Given the description of an element on the screen output the (x, y) to click on. 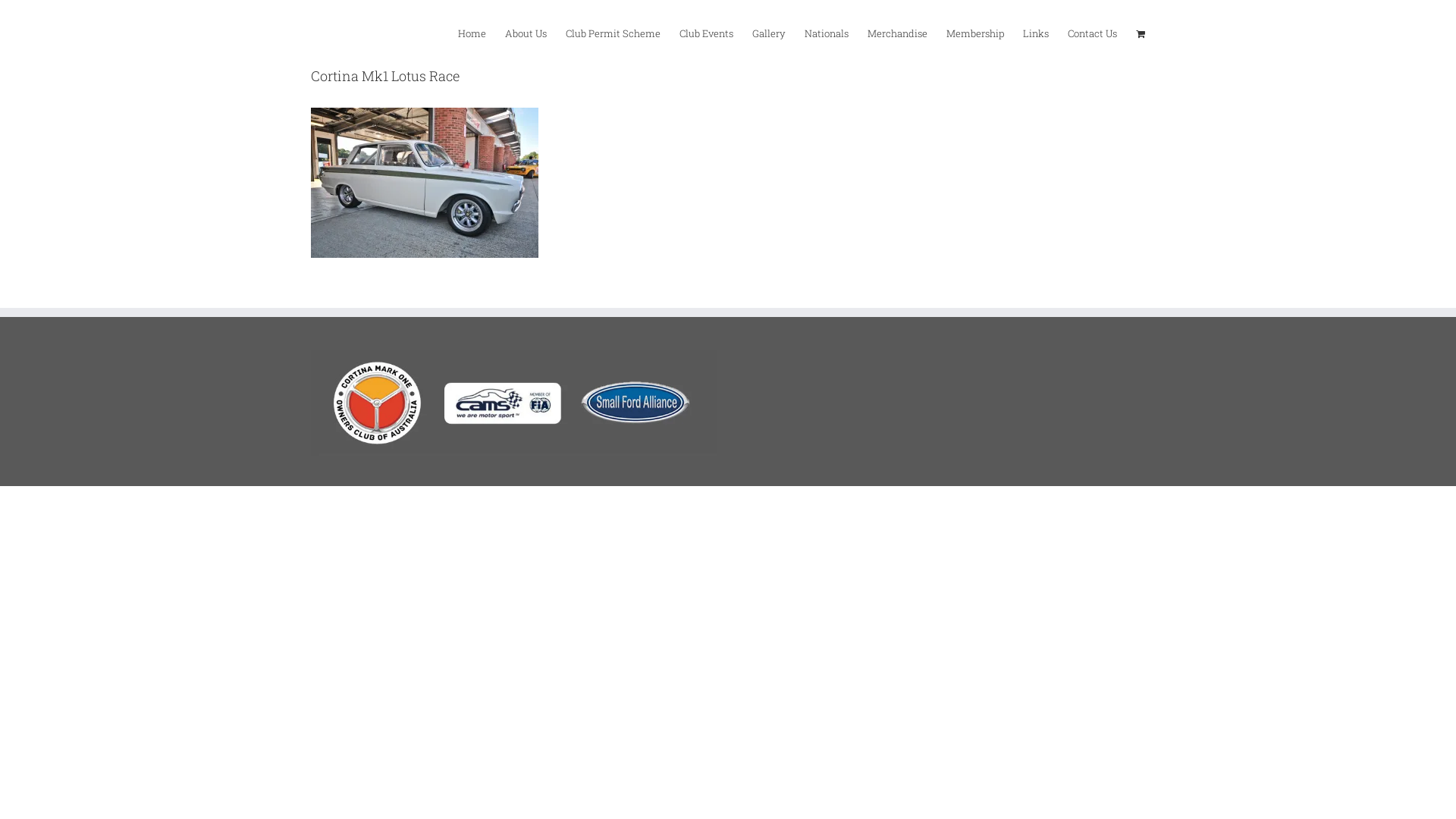
Membership Element type: text (975, 32)
Club Permit Scheme Element type: text (612, 32)
Club Events Element type: text (706, 32)
Merchandise Element type: text (897, 32)
Gallery Element type: text (768, 32)
Nationals Element type: text (826, 32)
Contact Us Element type: text (1092, 32)
Links Element type: text (1035, 32)
Home Element type: text (472, 32)
About Us Element type: text (525, 32)
